Given the description of an element on the screen output the (x, y) to click on. 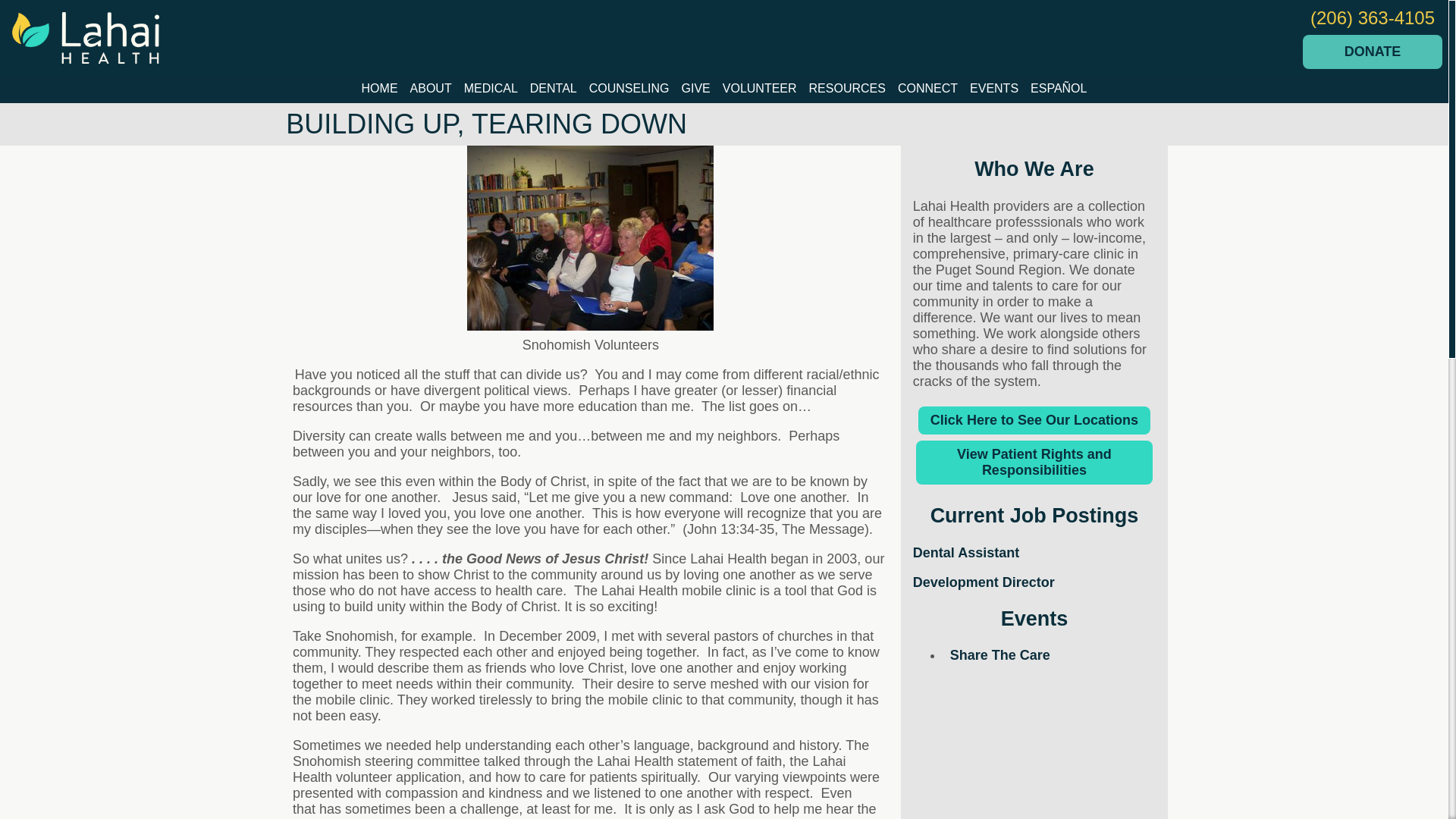
ABOUT (431, 88)
GIVE (695, 88)
MEDICAL (491, 88)
VOLUNTEER (759, 88)
DONATE (1372, 51)
EVENTS (994, 88)
HOME (379, 88)
COUNSELING (629, 88)
DENTAL (553, 88)
RESOURCES (847, 88)
